Given the description of an element on the screen output the (x, y) to click on. 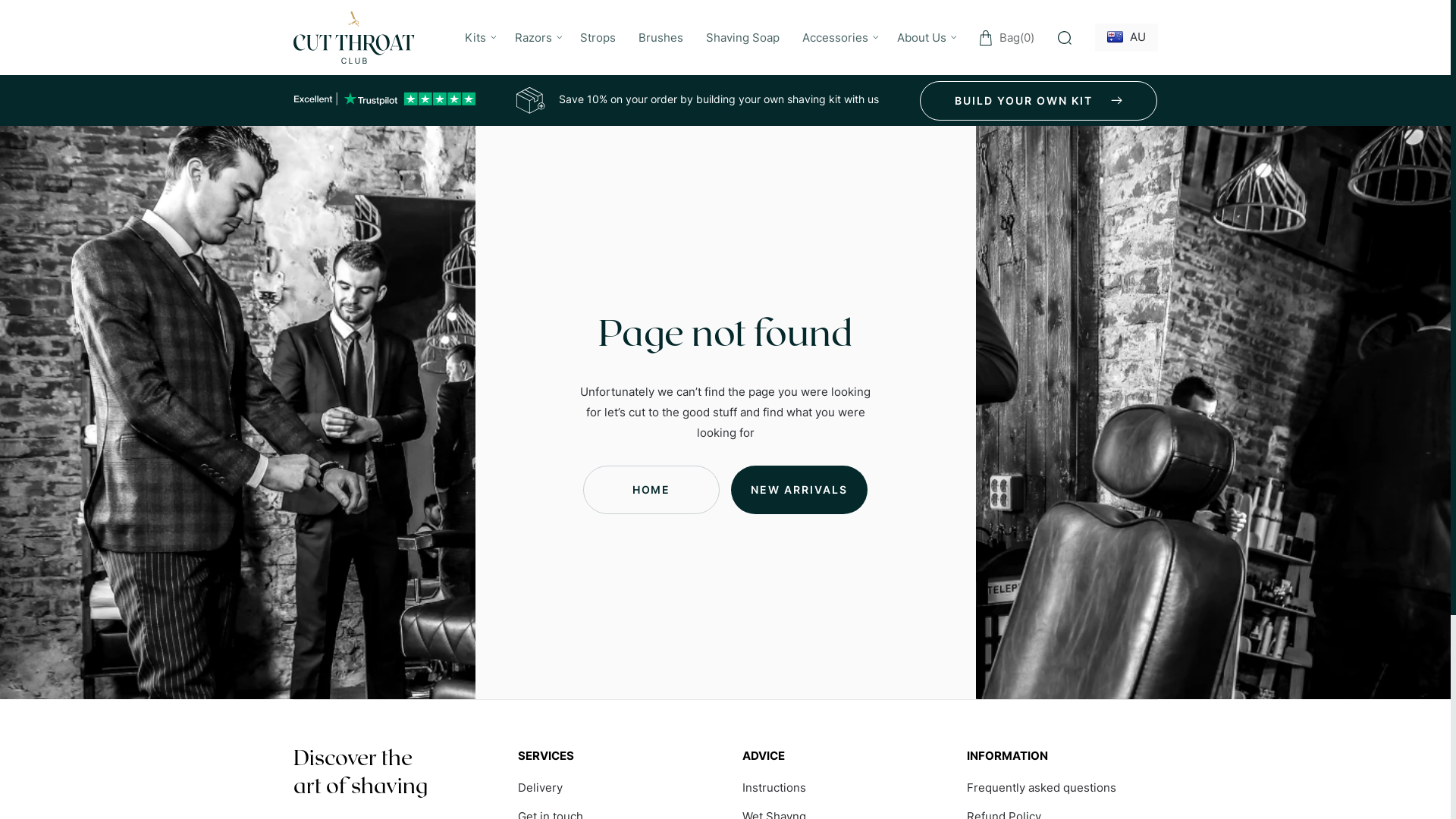
AU Element type: text (1126, 37)
Brushes Element type: text (660, 37)
Cart
Bag(0)
0 items Element type: text (1006, 37)
Shaving Soap Element type: text (742, 37)
NEW ARRIVALS Element type: text (799, 489)
Delivery Element type: text (539, 791)
Instructions Element type: text (774, 791)
Cut Throat Club Element type: text (353, 37)
HOME Element type: text (651, 489)
Strops Element type: text (597, 37)
BUILD YOUR OWN KIT
  Element type: text (1038, 100)
Frequently asked questions Element type: text (1041, 791)
